Given the description of an element on the screen output the (x, y) to click on. 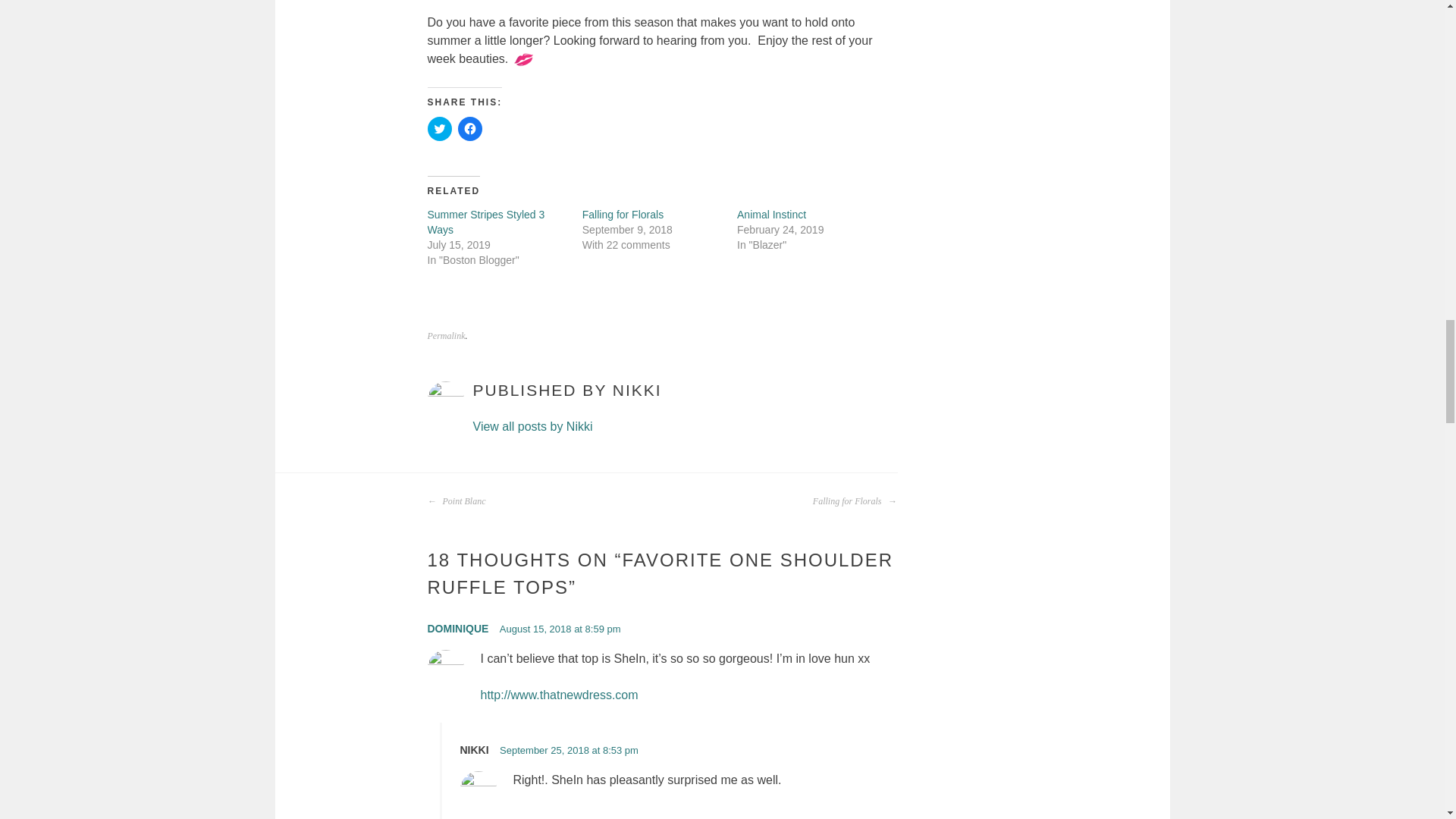
Summer Stripes Styled 3 Ways (486, 221)
Summer Stripes Styled 3 Ways (486, 221)
September 25, 2018 at 8:53 pm (569, 749)
Permalink (446, 335)
Animal Instinct (771, 214)
August 15, 2018 at 8:59 pm (560, 628)
Click to share on Facebook (469, 128)
Falling for Florals (622, 214)
Permalink to Favorite One Shoulder Ruffle Tops (446, 335)
DOMINIQUE (458, 628)
Animal Instinct (771, 214)
Falling for Florals  (854, 501)
 Point Blanc (457, 501)
Click to share on Twitter (439, 128)
Falling for Florals (622, 214)
